Given the description of an element on the screen output the (x, y) to click on. 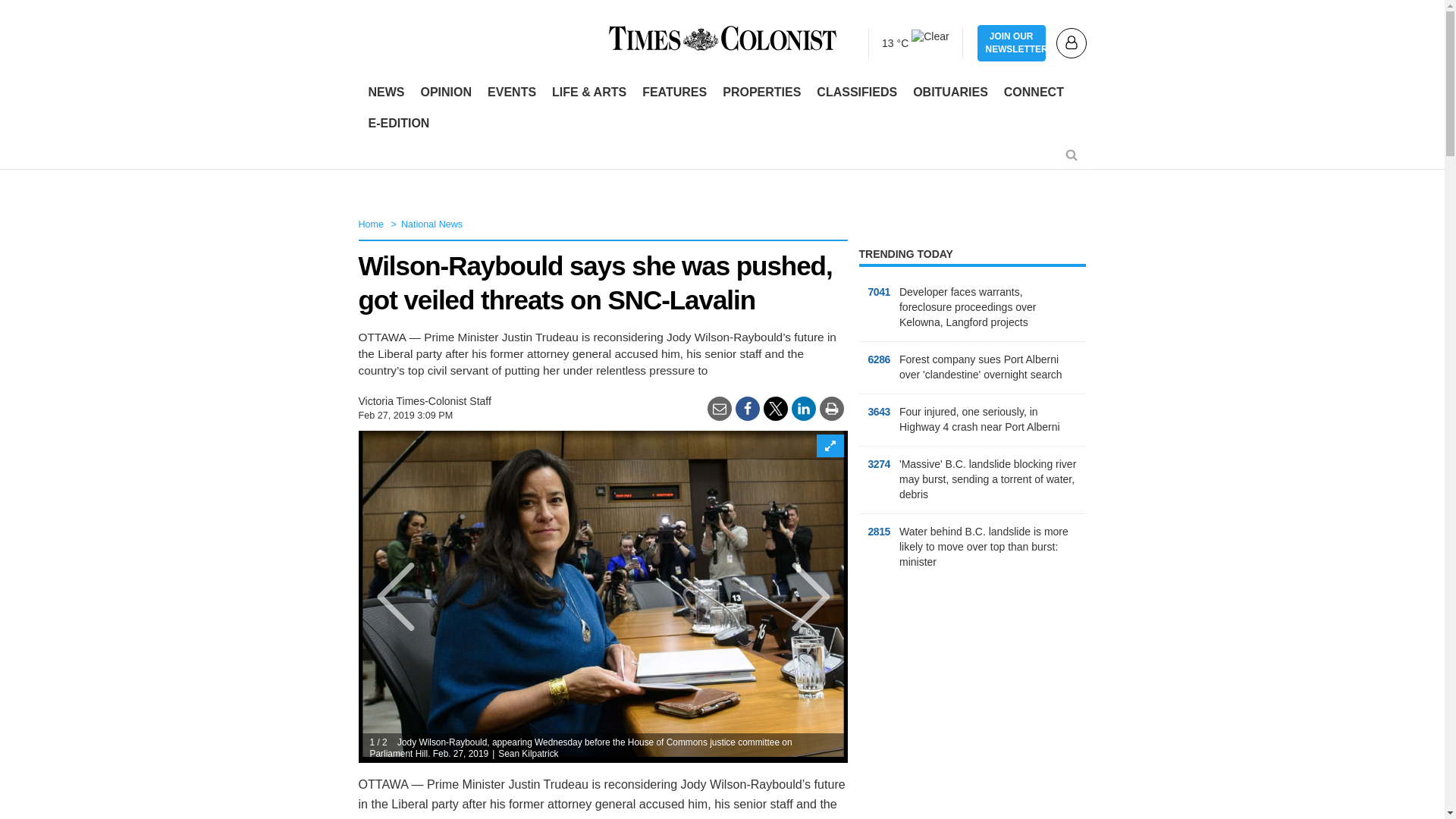
NEWS (386, 92)
Expand (829, 445)
OPINION (445, 92)
EVENTS (511, 92)
JOIN OUR NEWSLETTER (1010, 43)
